Given the description of an element on the screen output the (x, y) to click on. 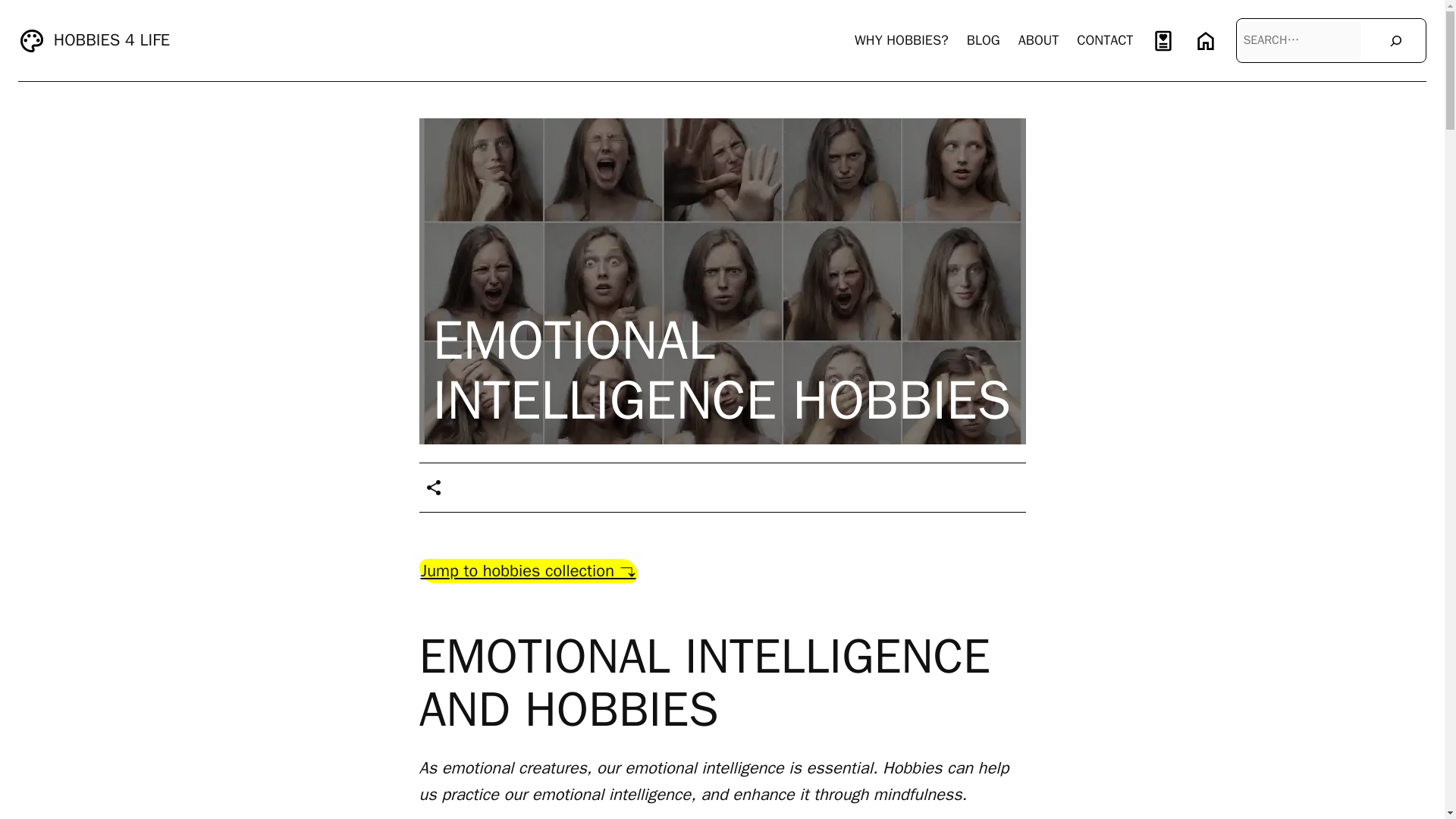
CONTACT (1104, 40)
HOME (1205, 40)
ABOUT (1038, 40)
WISHLIST (1162, 40)
HOBBIES 4 LIFE (111, 39)
BLOG (983, 40)
WHY HOBBIES? (901, 40)
